Given the description of an element on the screen output the (x, y) to click on. 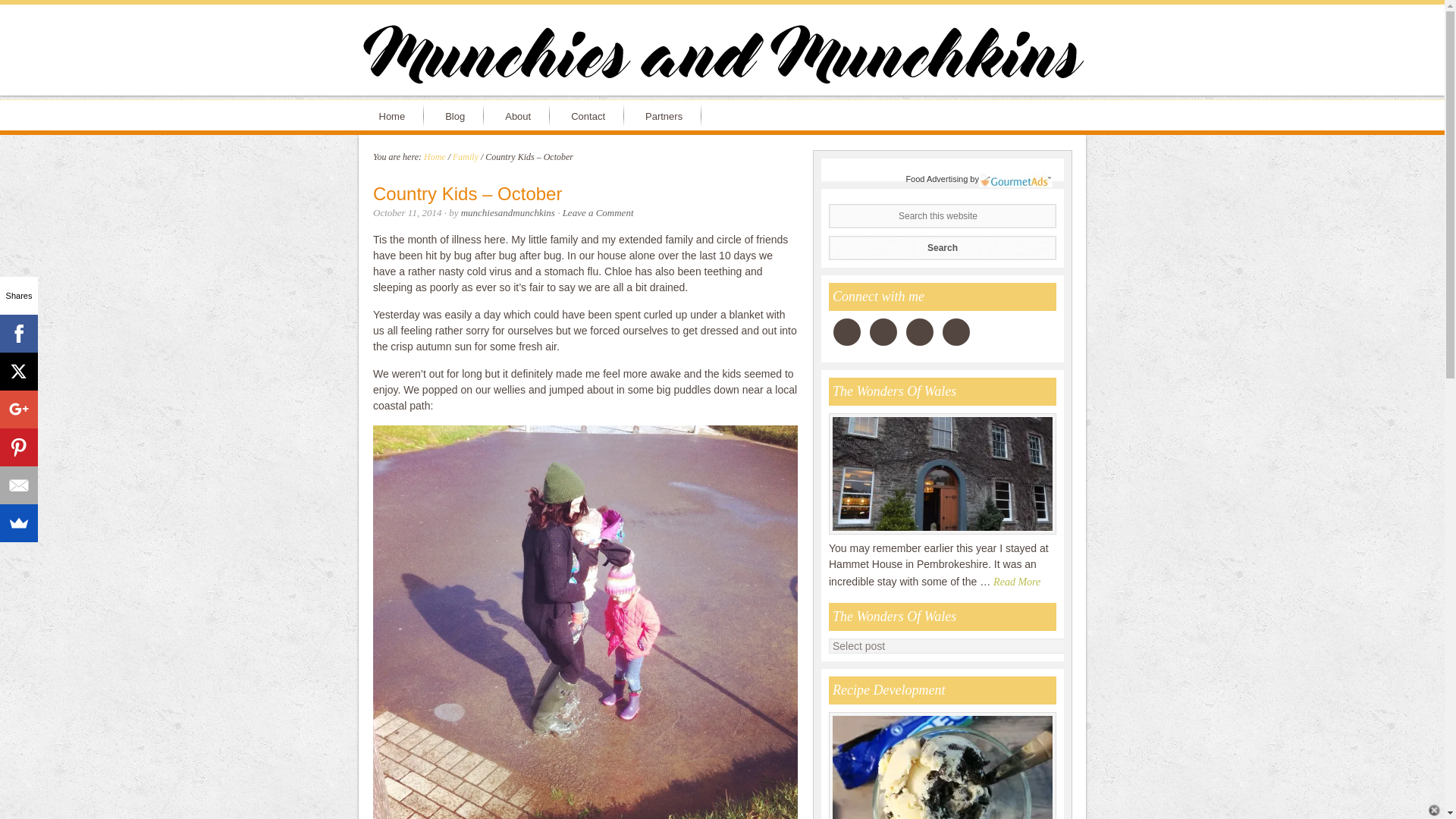
Food Advertising (936, 178)
Food Advertising (936, 178)
About (521, 114)
Family (465, 156)
Home (434, 156)
Family Fun At Hammet House (942, 532)
Read More (1019, 581)
Search (942, 247)
Partners (666, 114)
Leave a Comment (597, 212)
Blog (458, 114)
Search (942, 247)
Search (942, 247)
Contact (590, 114)
Munchies and Munchkins (722, 57)
